Given the description of an element on the screen output the (x, y) to click on. 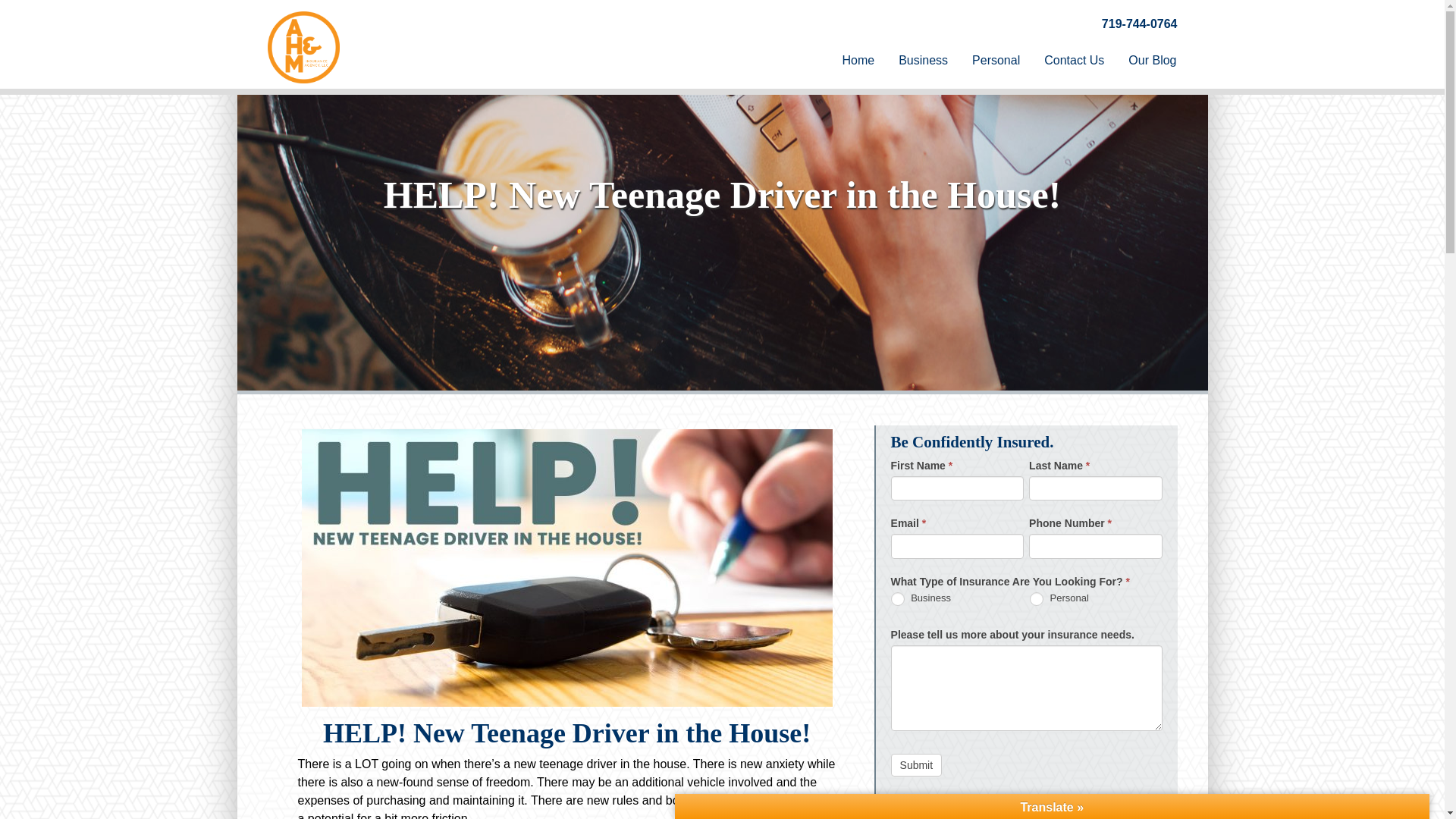
Submit (916, 764)
Business (922, 60)
Personal (995, 60)
Personal (1036, 599)
Home (857, 60)
Business (897, 599)
Contact Us (1074, 60)
Our Blog (1152, 60)
719-744-0764 (1139, 23)
